Given the description of an element on the screen output the (x, y) to click on. 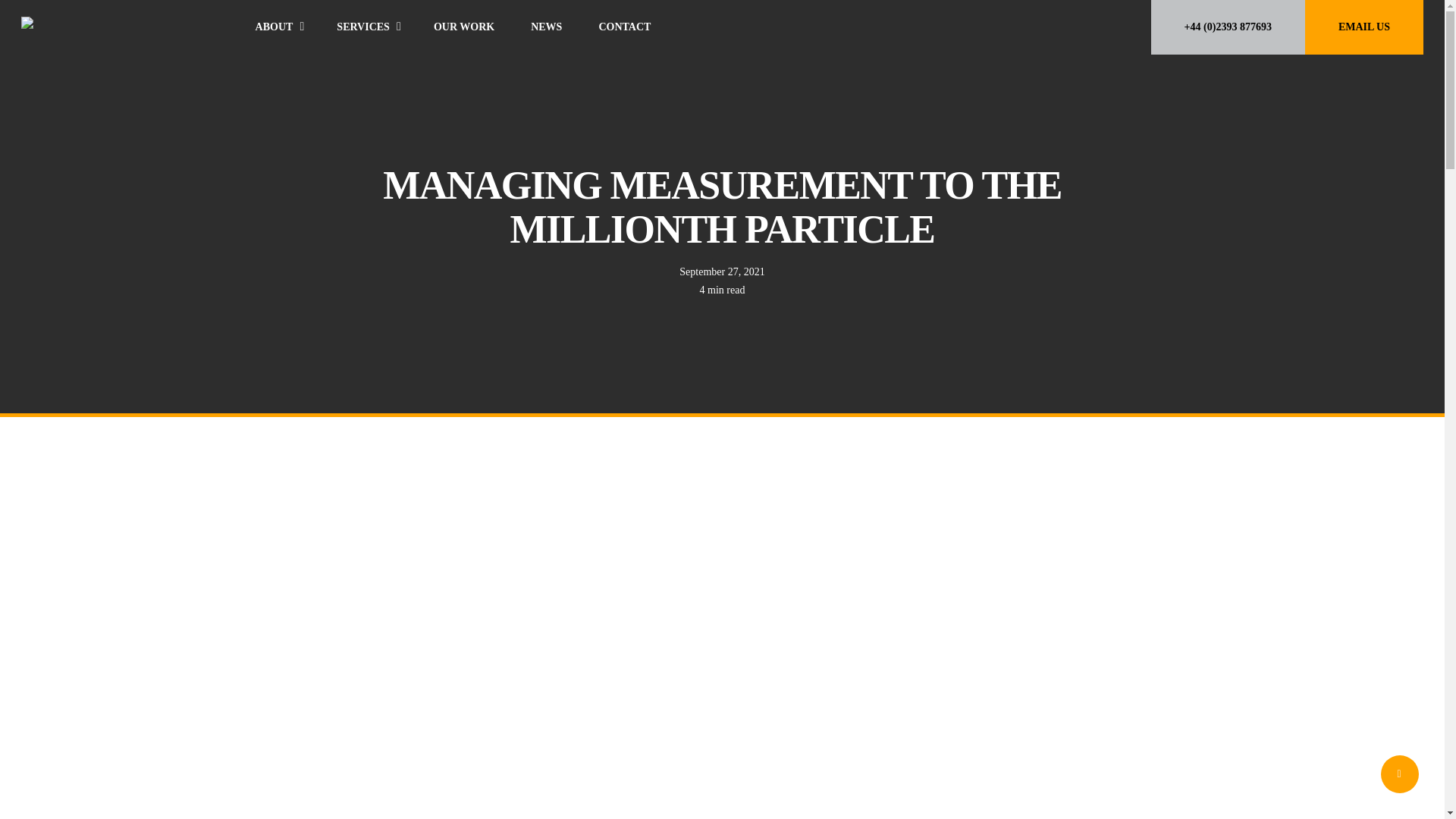
CONTACT (623, 27)
SERVICES (366, 27)
OUR WORK (463, 27)
ABOUT (277, 27)
NEWS (545, 27)
EMAIL US (1363, 26)
